Given the description of an element on the screen output the (x, y) to click on. 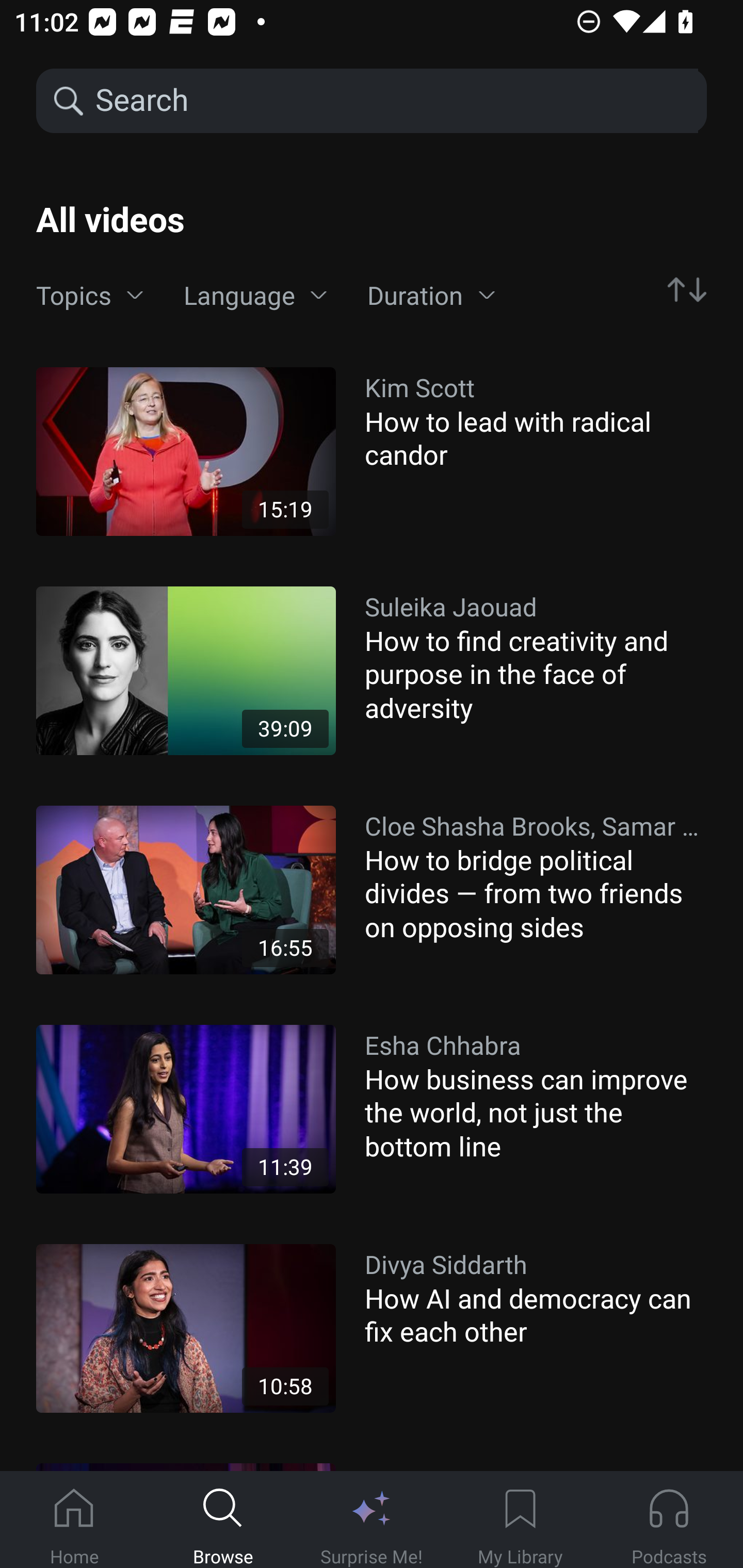
Search (395, 100)
Topics (90, 295)
Language (255, 295)
Duration (431, 295)
15:19 Kim Scott How to lead with radical candor (371, 451)
Home (74, 1520)
Browse (222, 1520)
Surprise Me! (371, 1520)
My Library (519, 1520)
Podcasts (668, 1520)
